Given the description of an element on the screen output the (x, y) to click on. 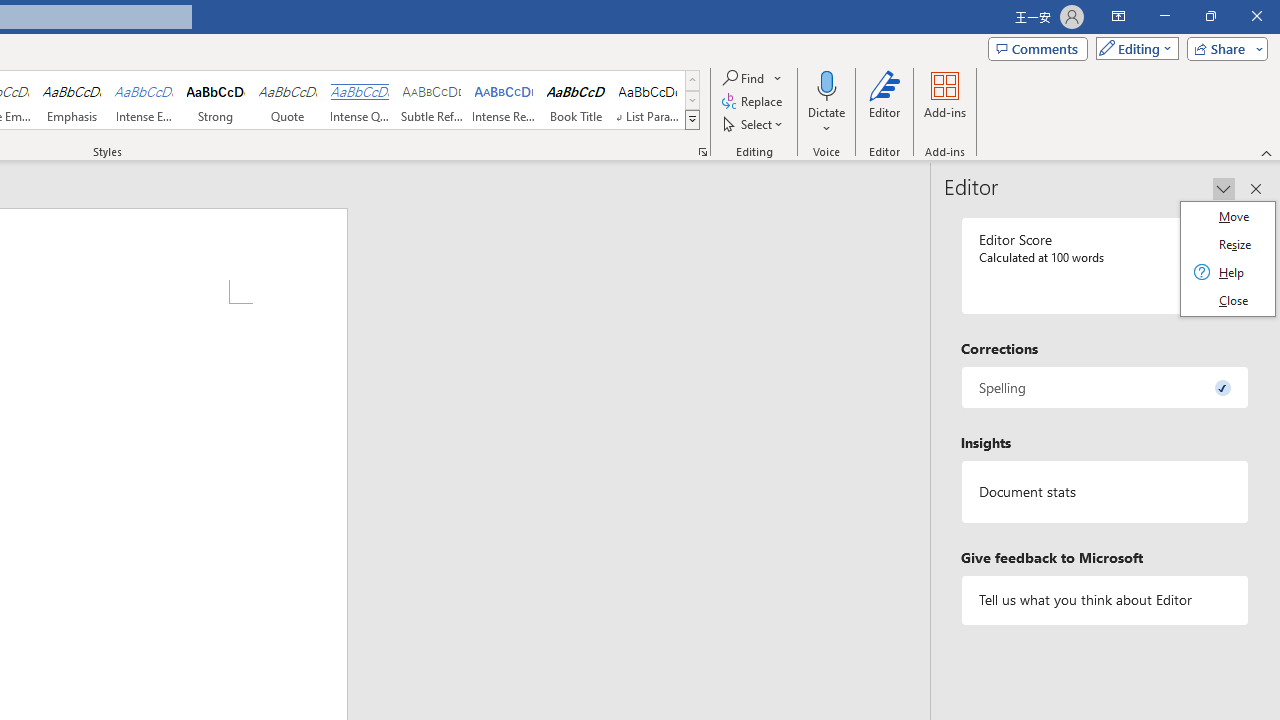
Class: Net UI Tool Window (1228, 258)
